Given the description of an element on the screen output the (x, y) to click on. 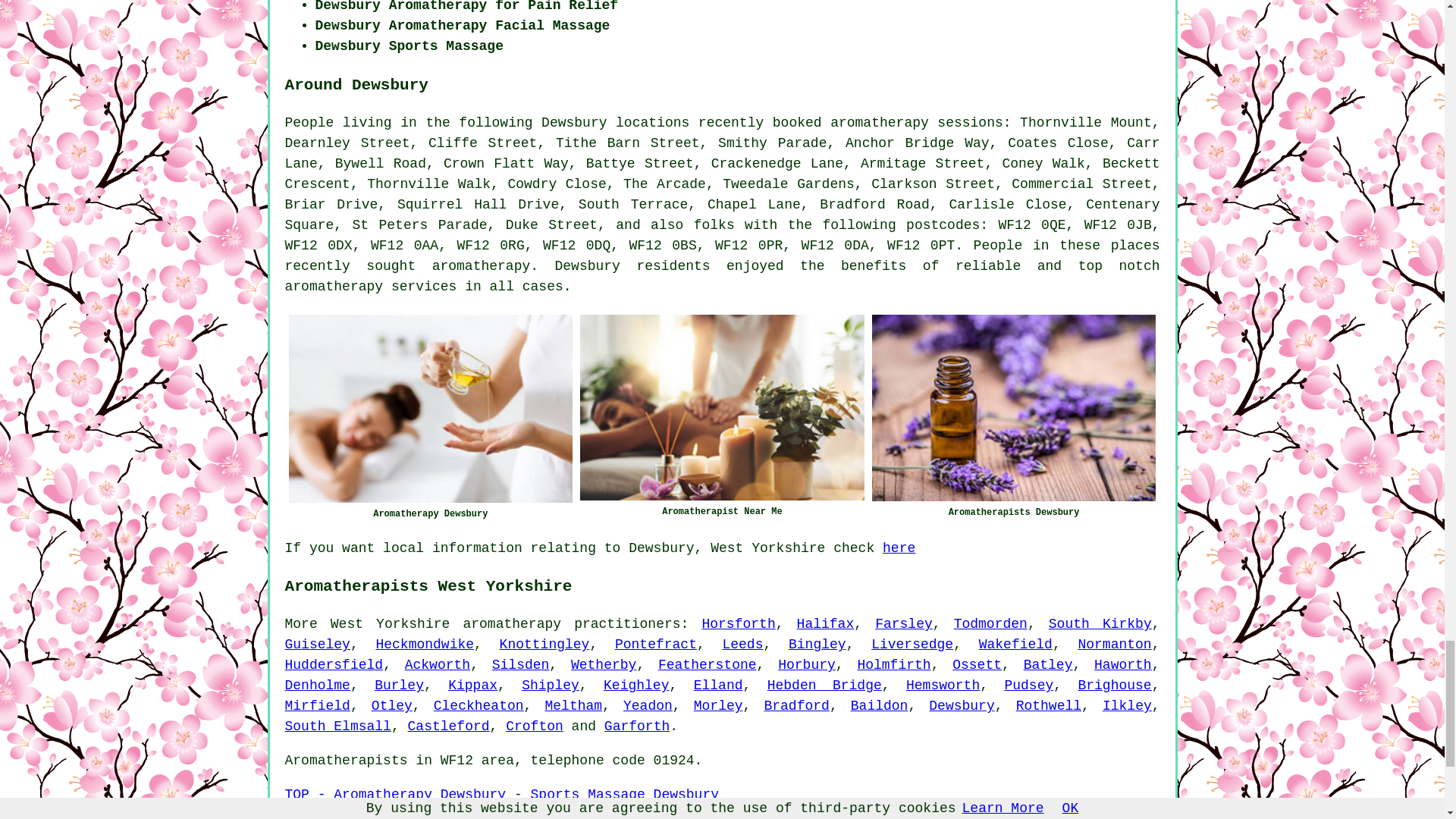
Aromatherapy Dewsbury (430, 408)
